Given the description of an element on the screen output the (x, y) to click on. 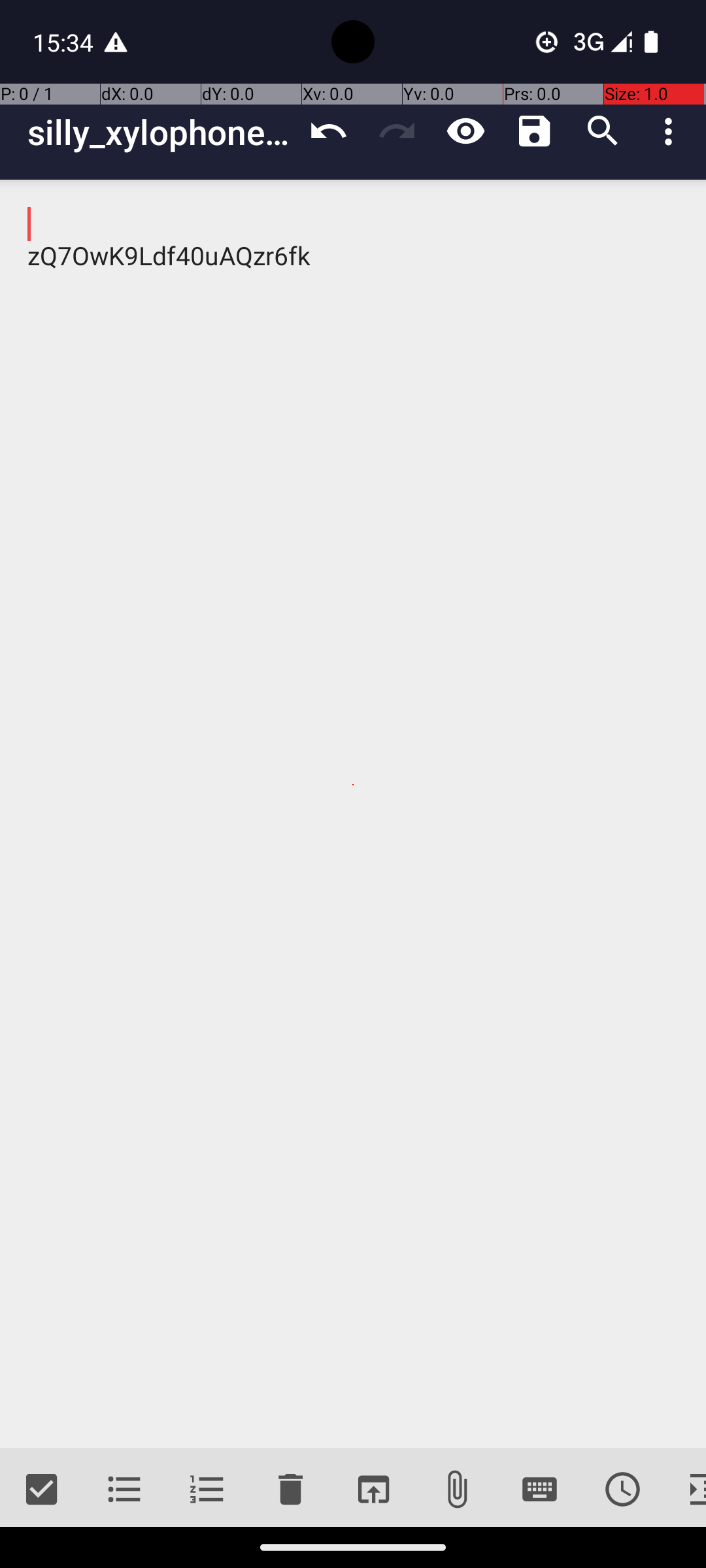
silly_xylophone_WGSm Element type: android.widget.TextView (160, 131)

zQ7OwK9Ldf40uAQzr6fk Element type: android.widget.EditText (353, 813)
Ordered list Element type: android.widget.ImageView (207, 1488)
Indent Element type: android.widget.ImageView (685, 1488)
